Given the description of an element on the screen output the (x, y) to click on. 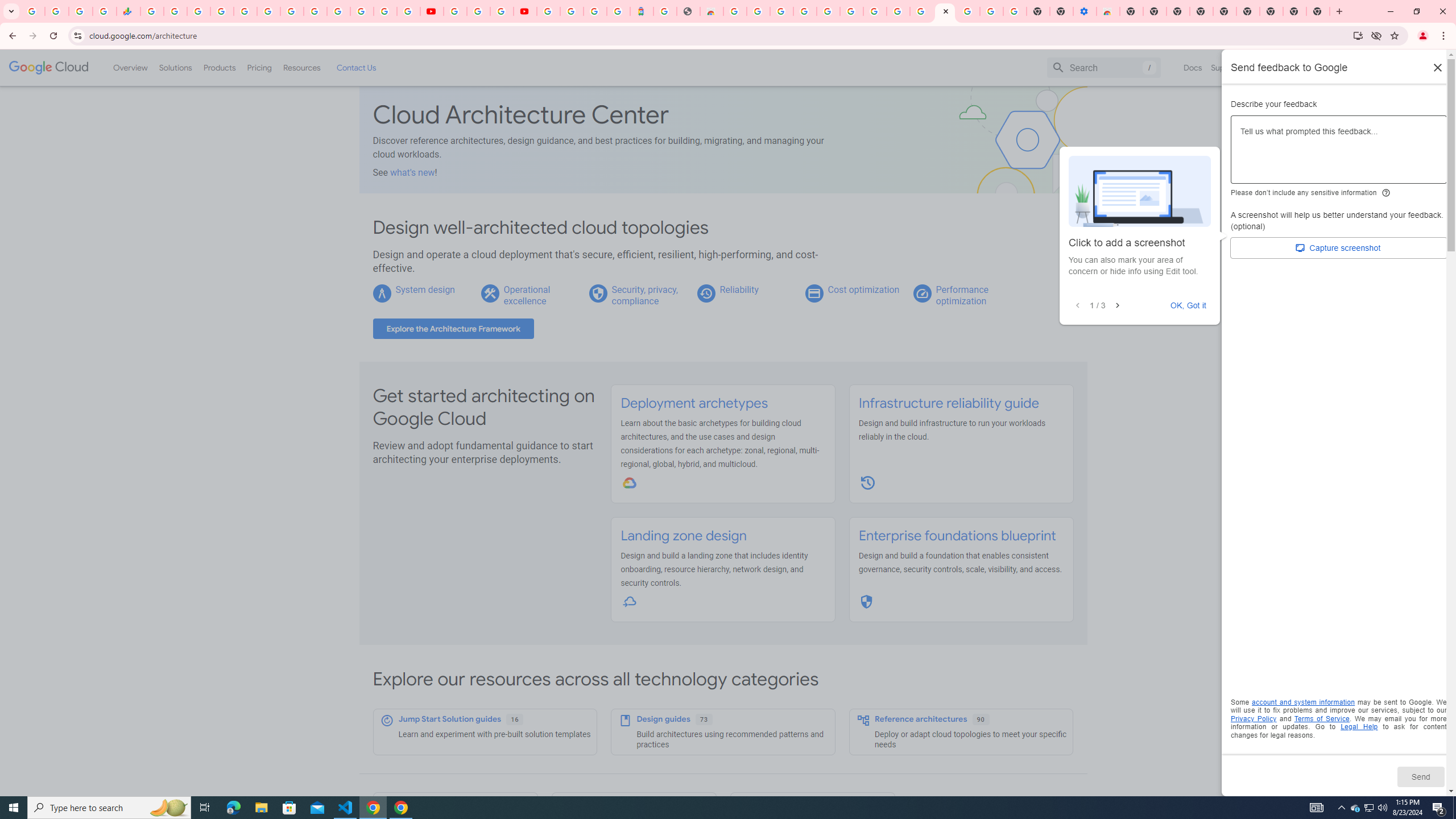
Overview (130, 67)
Create your Google Account (897, 11)
Turn cookies on or off - Computer - Google Account Help (1015, 11)
Sign in - Google Accounts (571, 11)
Opens in a new tab. Privacy Policy (1253, 718)
New Tab (1131, 11)
Enterprise foundations blueprint (956, 535)
Capture screenshot (1338, 247)
Products (218, 67)
System design (424, 289)
Reliability (738, 289)
